Given the description of an element on the screen output the (x, y) to click on. 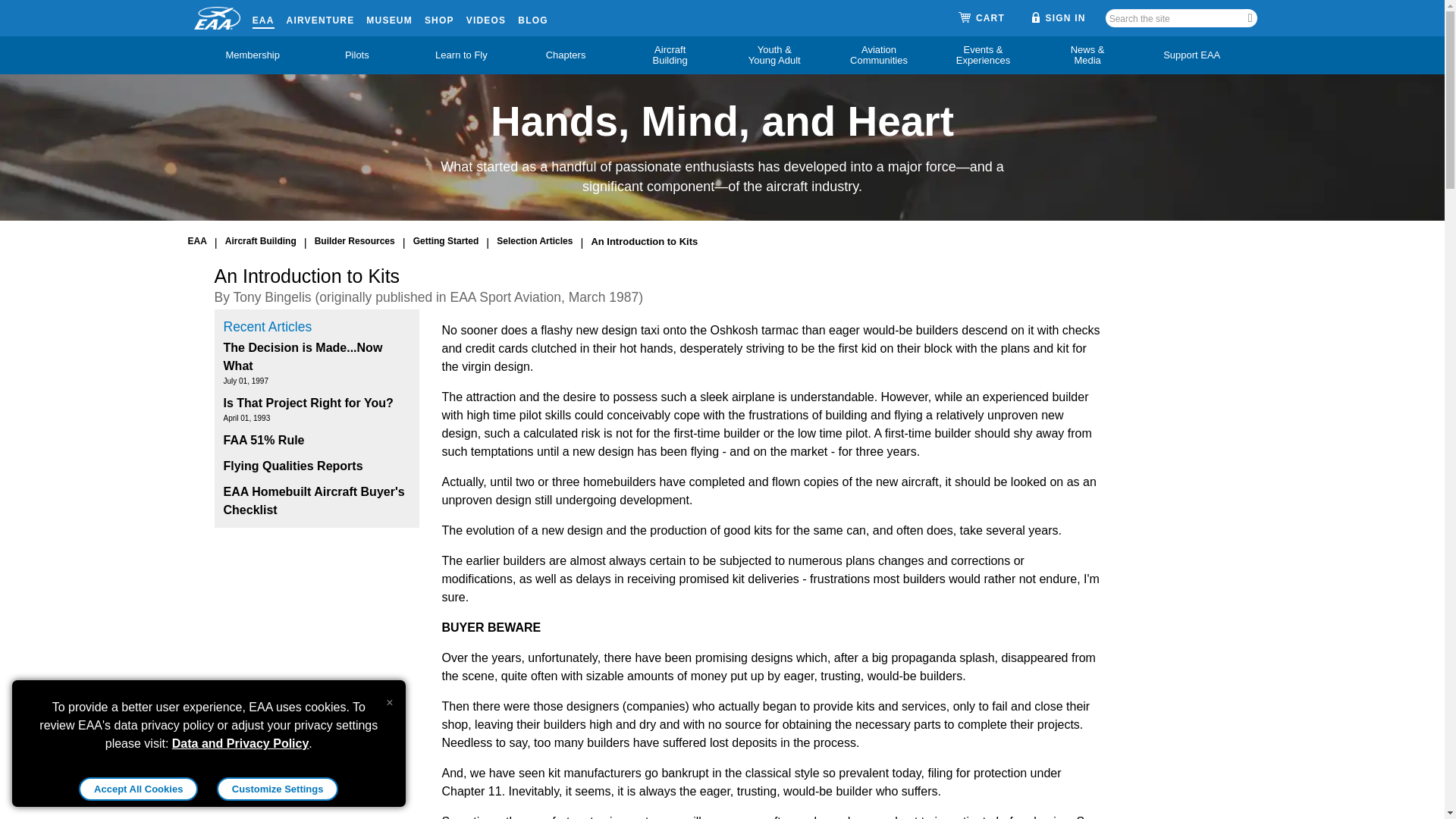
EAA (263, 17)
AIRVENTURE (320, 17)
MUSEUM (389, 17)
SIGN IN (1059, 18)
SHOP (439, 17)
VIDEOS (485, 17)
BLOG (532, 17)
CART (980, 18)
